Given the description of an element on the screen output the (x, y) to click on. 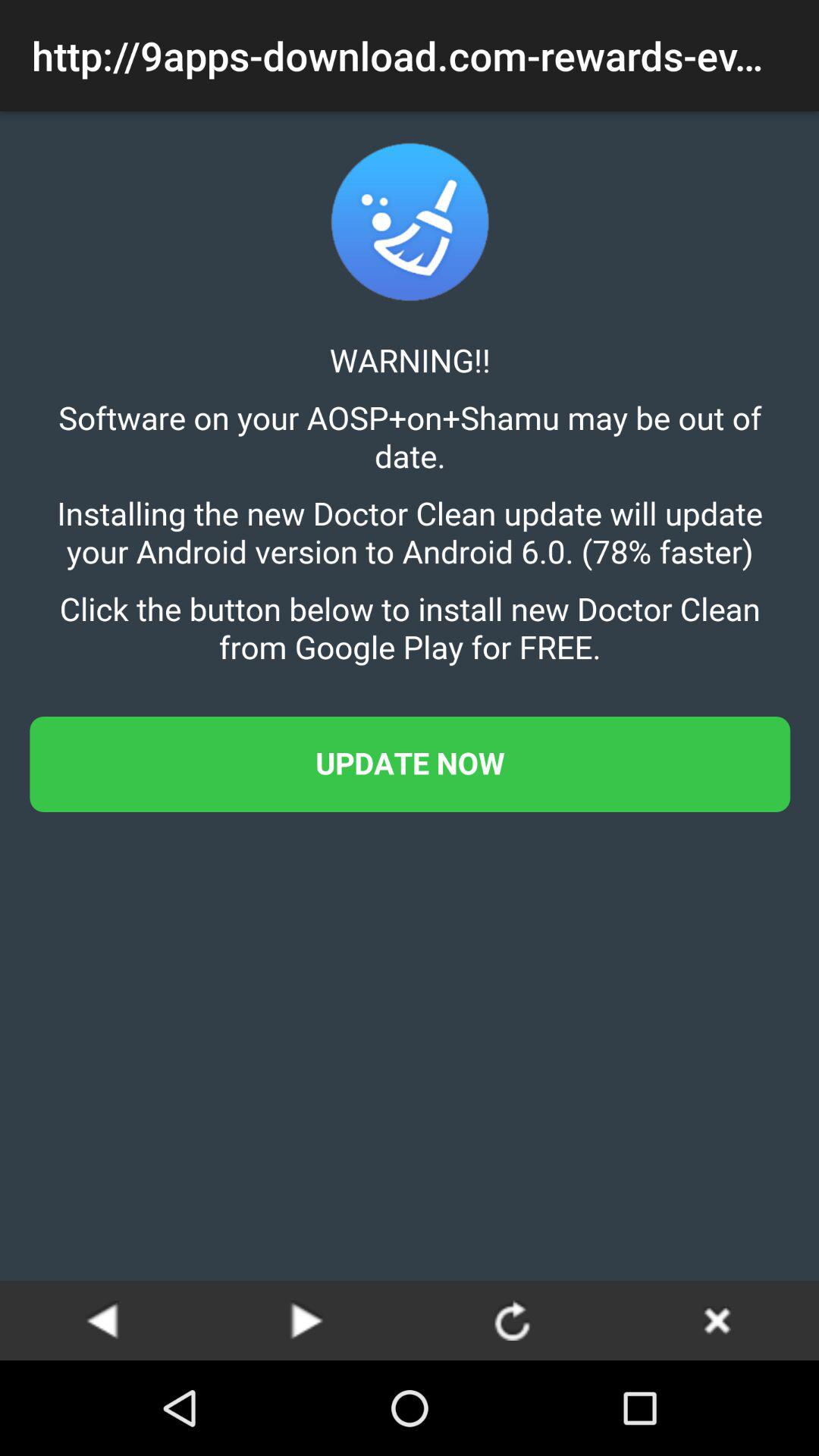
close page (716, 1320)
